Given the description of an element on the screen output the (x, y) to click on. 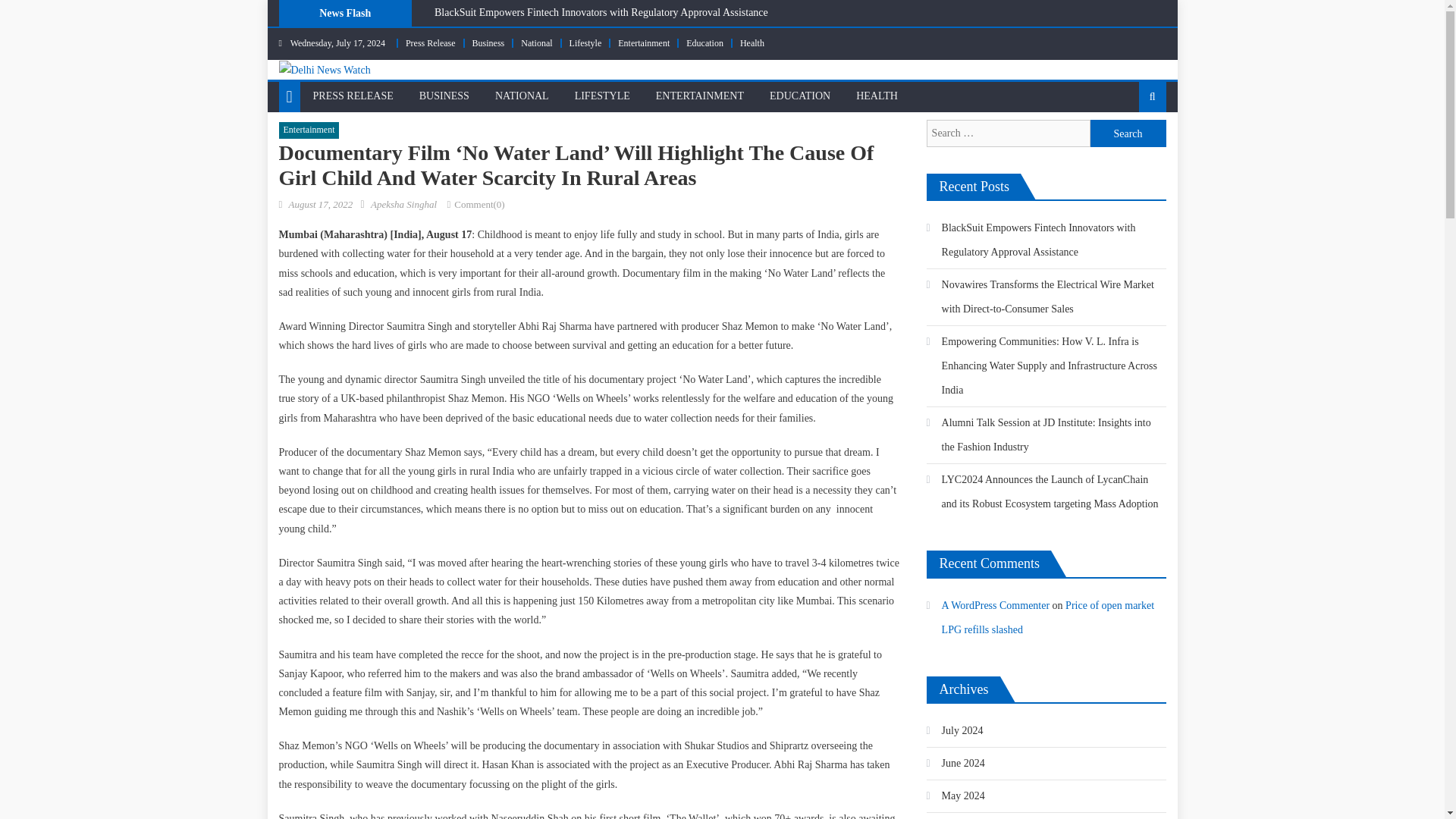
HEALTH (876, 95)
BUSINESS (443, 95)
National (536, 42)
LIFESTYLE (602, 95)
Business (488, 42)
Press Release (430, 42)
Entertainment (643, 42)
Education (704, 42)
PRESS RELEASE (352, 95)
Search (1128, 133)
Health (751, 42)
August 17, 2022 (320, 204)
Lifestyle (585, 42)
Search (1128, 133)
